Given the description of an element on the screen output the (x, y) to click on. 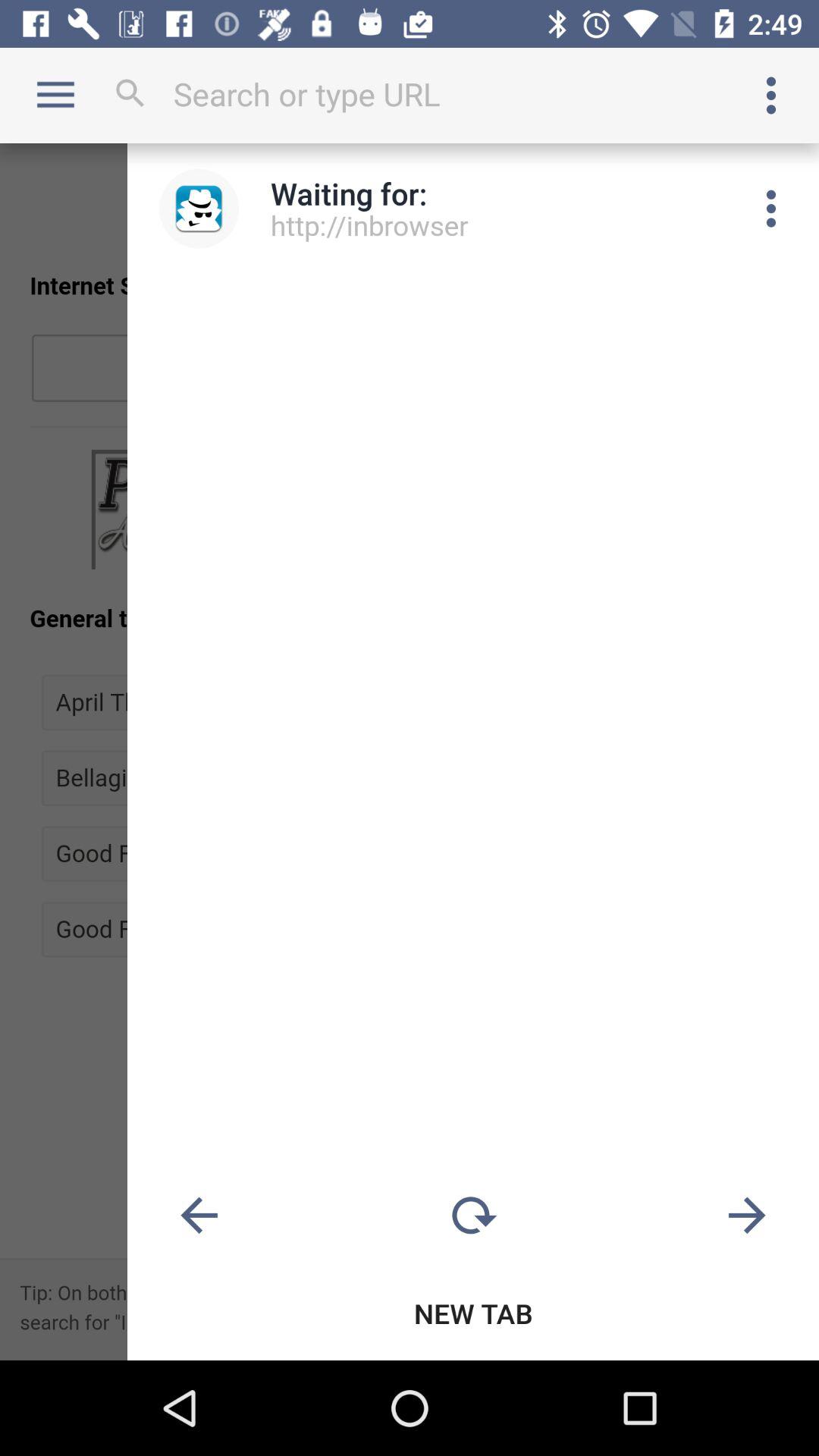
swipe to the new tab (473, 1313)
